Given the description of an element on the screen output the (x, y) to click on. 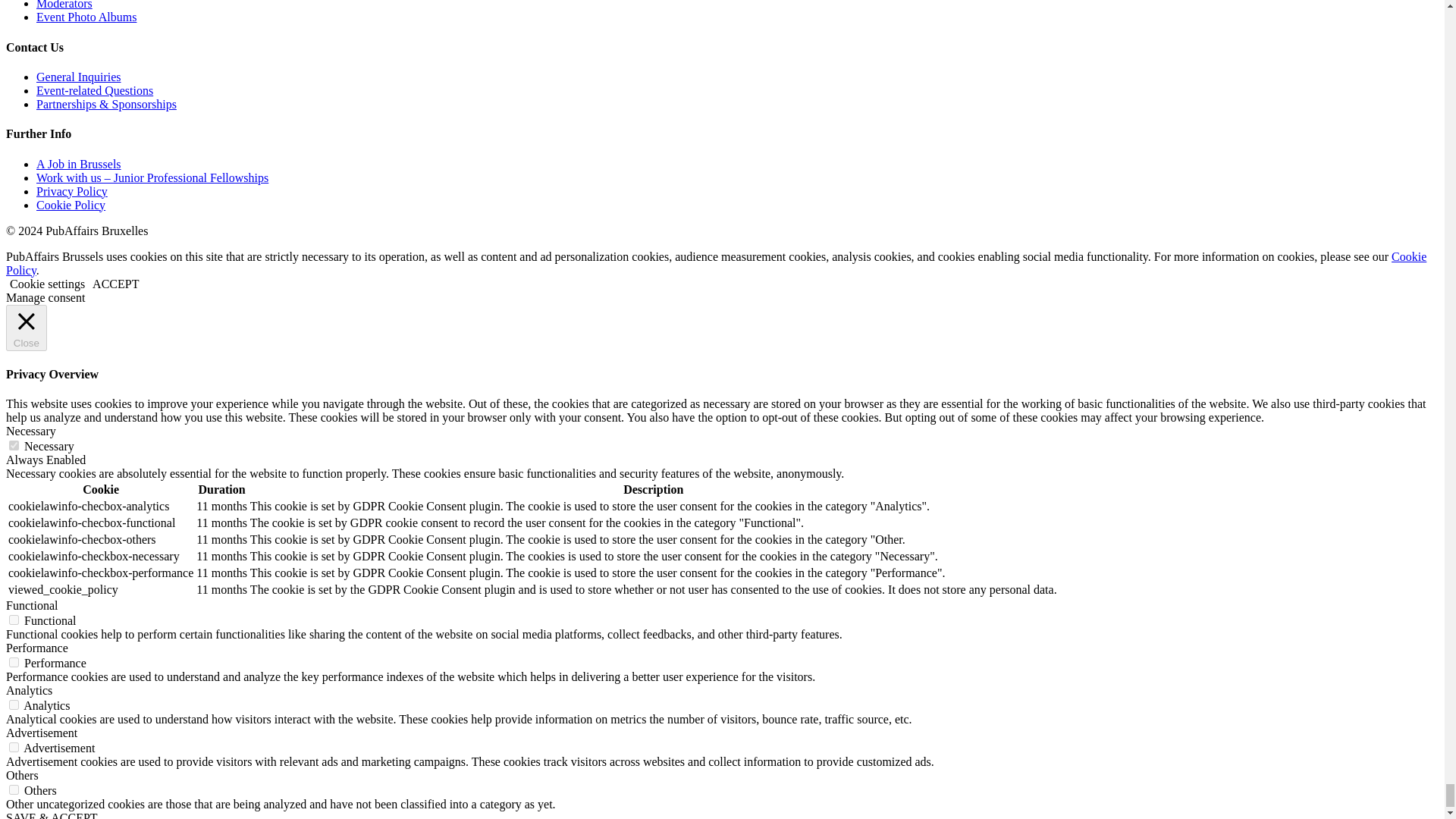
on (13, 789)
on (13, 662)
on (13, 619)
on (13, 705)
on (13, 445)
on (13, 747)
